Given the description of an element on the screen output the (x, y) to click on. 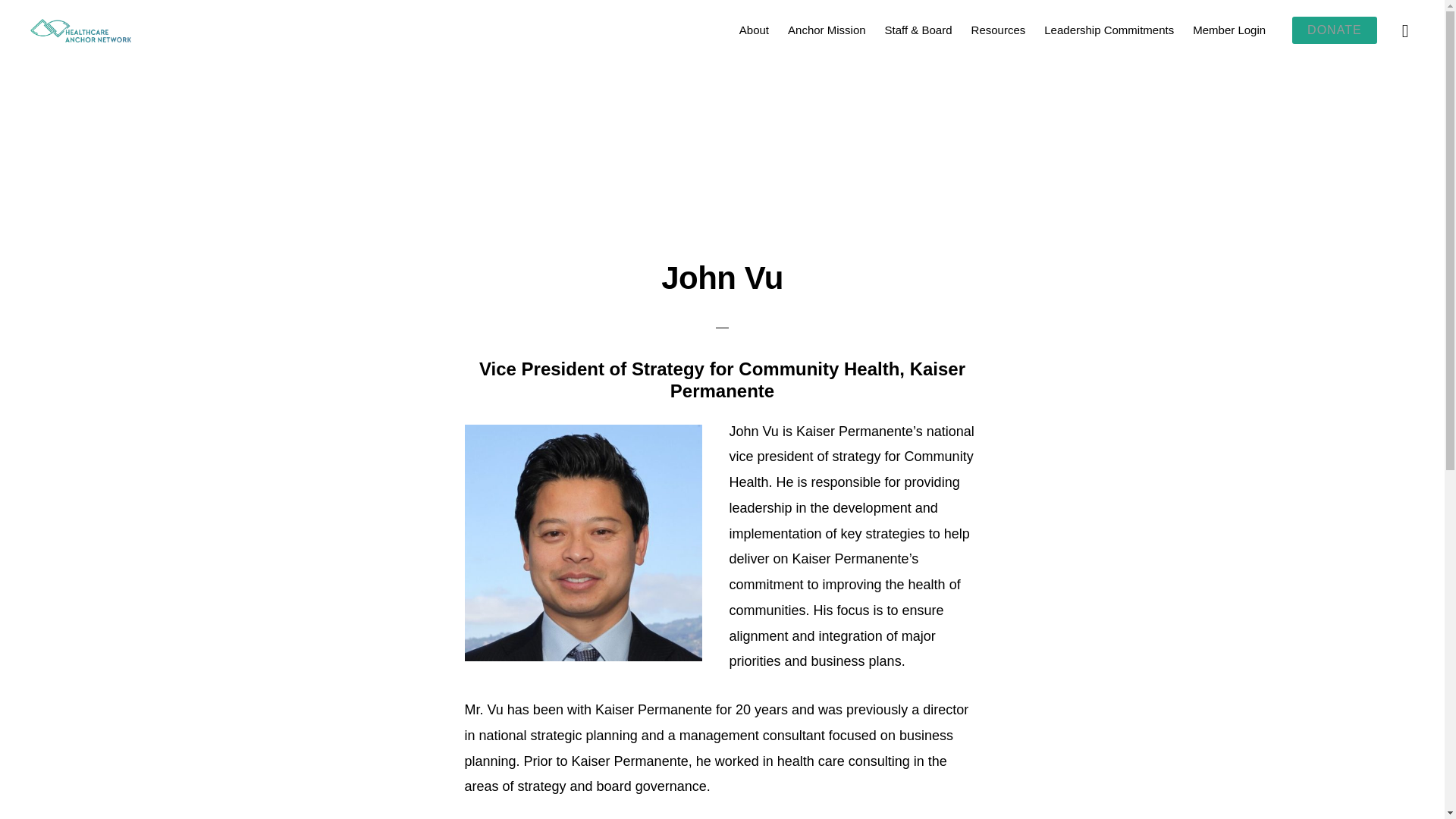
Follow the Healthcare Anchor Network on Twitter (738, 704)
SIGN UP FOR NEWSLETTER (1003, 776)
Anchor Mission (826, 29)
MEMBERS-ONLY PLATFORM (678, 776)
Member Login (1228, 29)
PRIVACY POLICY (874, 776)
Leadership Commitments (1108, 29)
JOIN THE HEALTHCARE ANCHOR NETWORK (483, 776)
Visit the Healthcare Anchor Network on Facebook (672, 704)
Contact the Healthcare Anchor Network (721, 733)
